Given the description of an element on the screen output the (x, y) to click on. 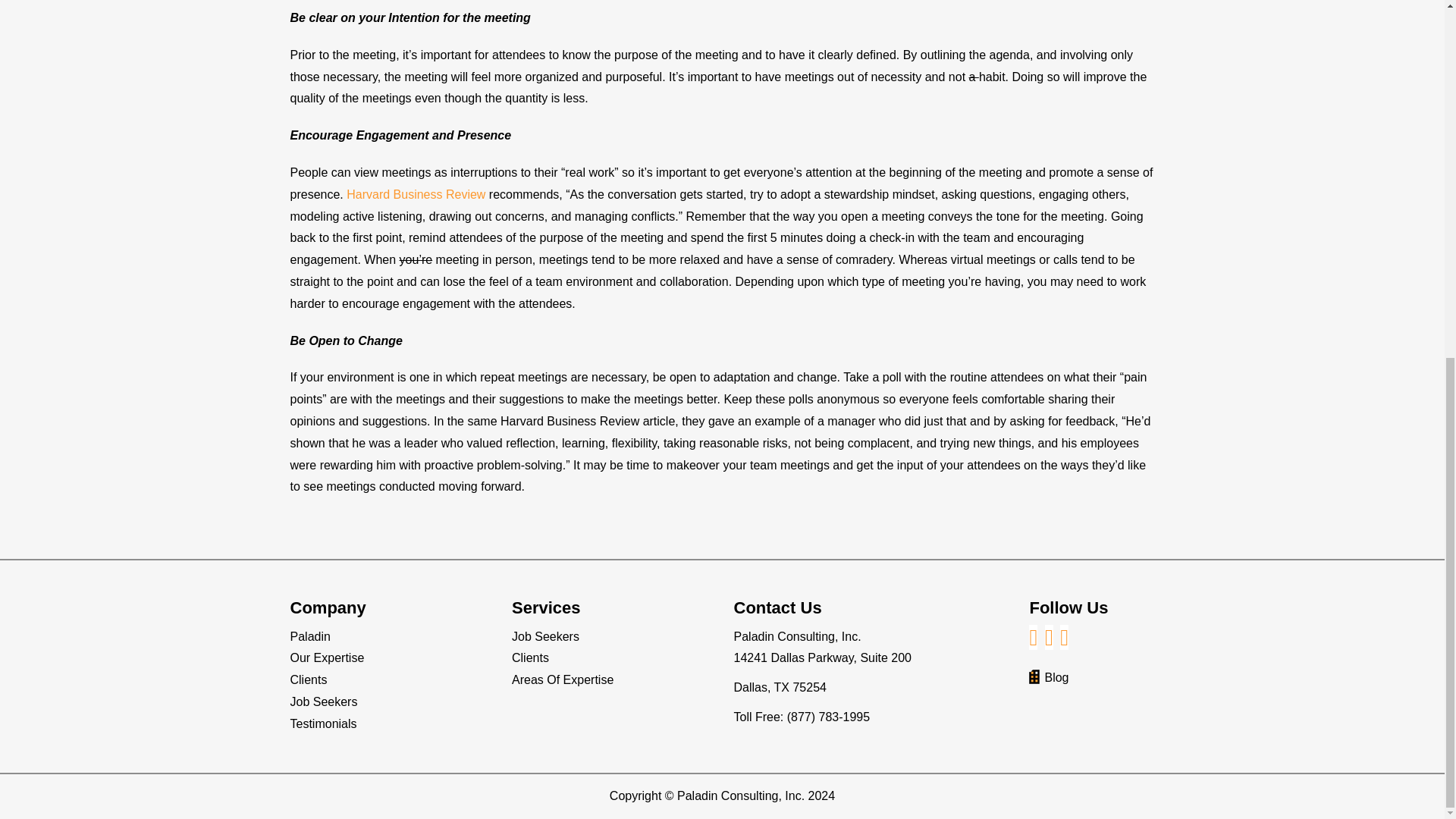
Paladin (309, 635)
Harvard Business Review (415, 194)
